Given the description of an element on the screen output the (x, y) to click on. 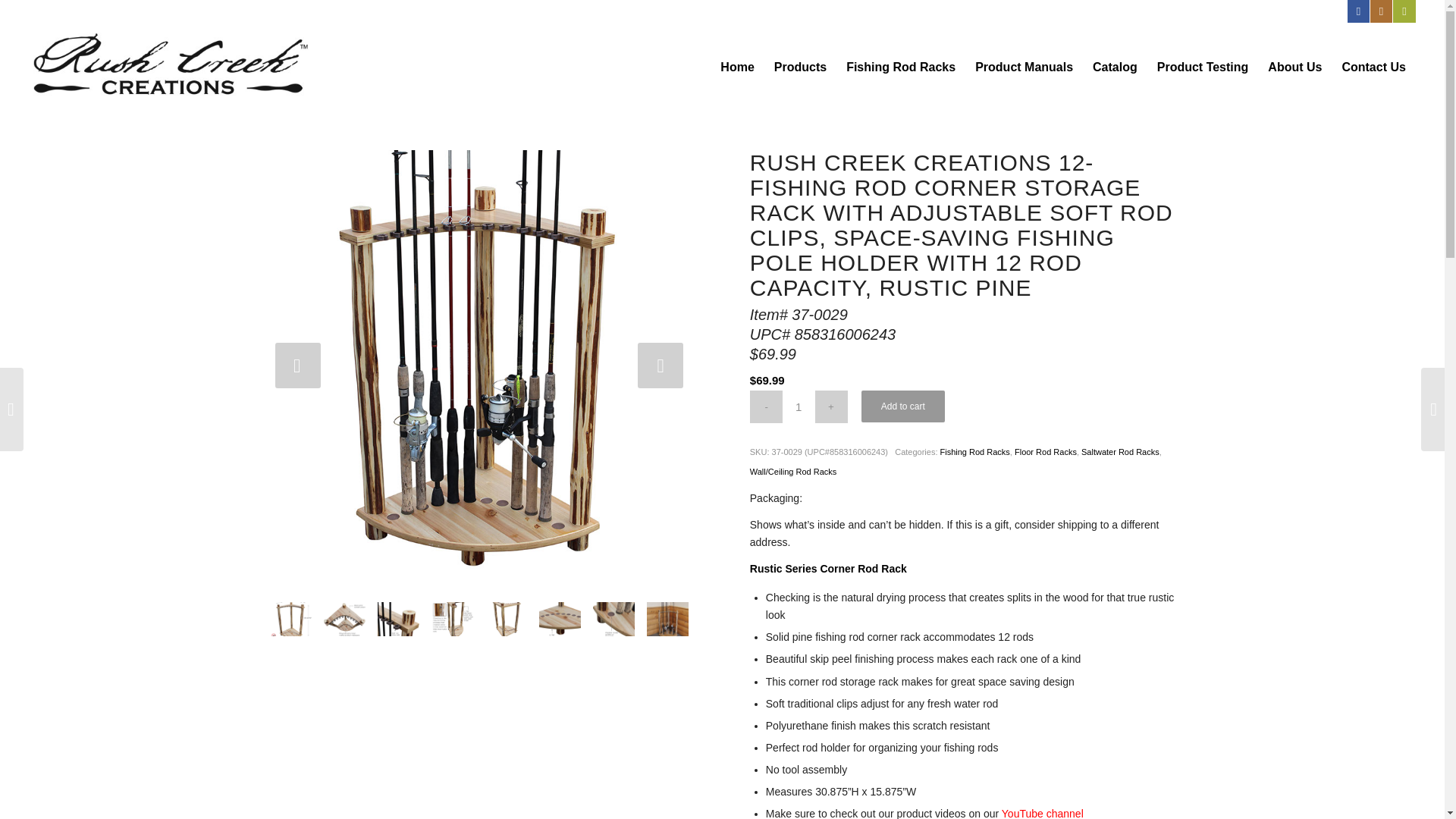
1 (799, 406)
Next (659, 365)
Product Testing (1203, 67)
Mail (1404, 11)
- (766, 406)
Facebook (1359, 11)
Fishing Rod Racks (900, 67)
Contact Us (1373, 67)
Product Manuals (1024, 67)
